Given the description of an element on the screen output the (x, y) to click on. 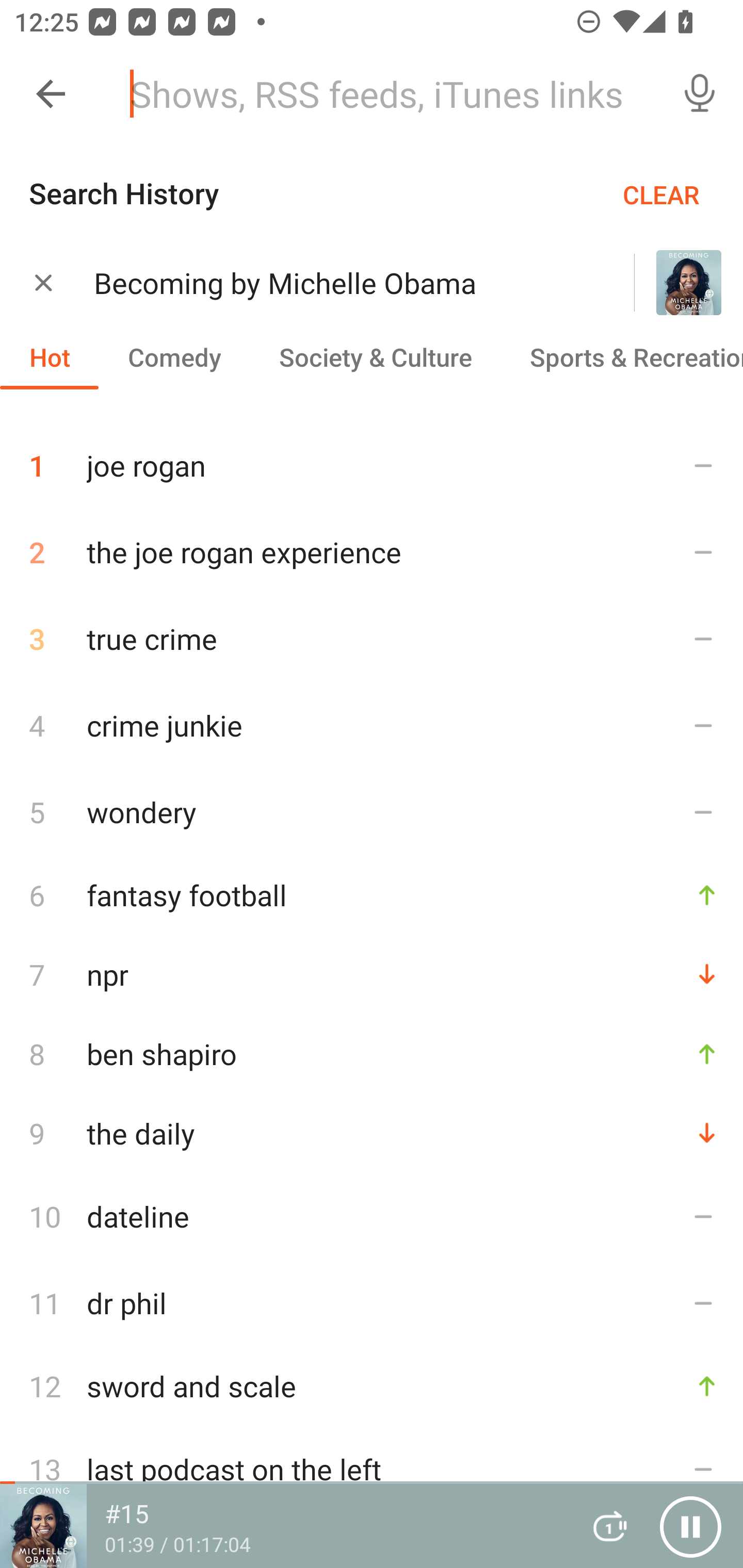
Collapse (50, 93)
Voice Search (699, 93)
Shows, RSS feeds, iTunes links (385, 94)
CLEAR (660, 194)
Becoming by Michelle Obama (338, 282)
 Clear (43, 282)
Hot (49, 356)
Comedy (173, 356)
Society & Culture (374, 356)
Sports & Recreation (621, 356)
1 joe rogan (371, 457)
2 the joe rogan experience (371, 551)
3 true crime (371, 638)
4 crime junkie (371, 725)
5 wondery (371, 811)
6 fantasy football (371, 894)
7 npr (371, 974)
8 ben shapiro (371, 1053)
9 the daily (371, 1132)
10 dateline (371, 1215)
11 dr phil (371, 1302)
12 sword and scale (371, 1385)
13 last podcast on the left (371, 1468)
#15 01:39 / 01:17:04 (283, 1525)
Pause (690, 1526)
